Given the description of an element on the screen output the (x, y) to click on. 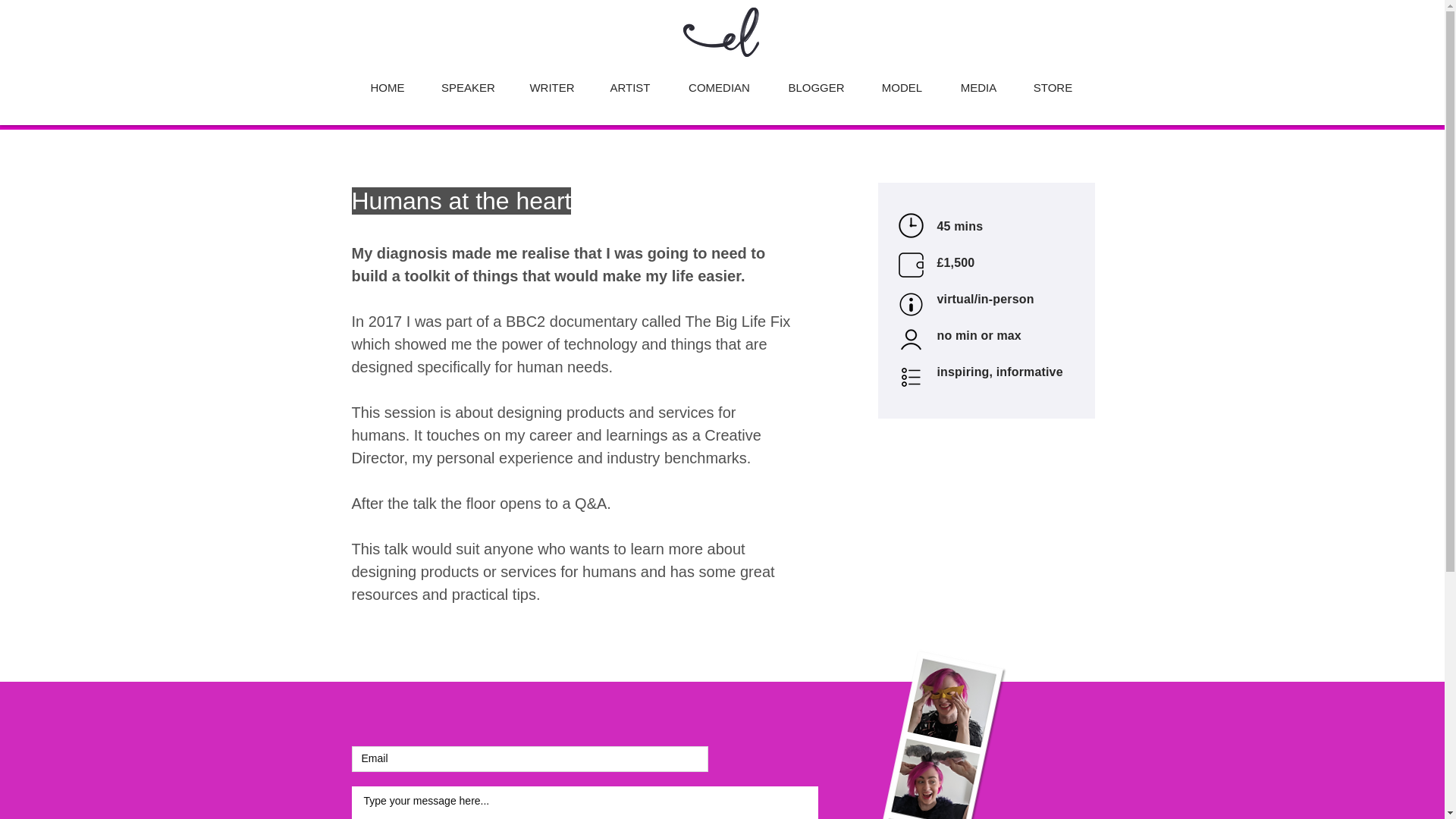
COMEDIAN (719, 80)
SPEAKER (468, 80)
HOME (386, 80)
BLOGGER (816, 80)
MODEL (902, 80)
WRITER (552, 80)
MEDIA (979, 80)
STORE (1053, 80)
ARTIST (629, 80)
